Given the description of an element on the screen output the (x, y) to click on. 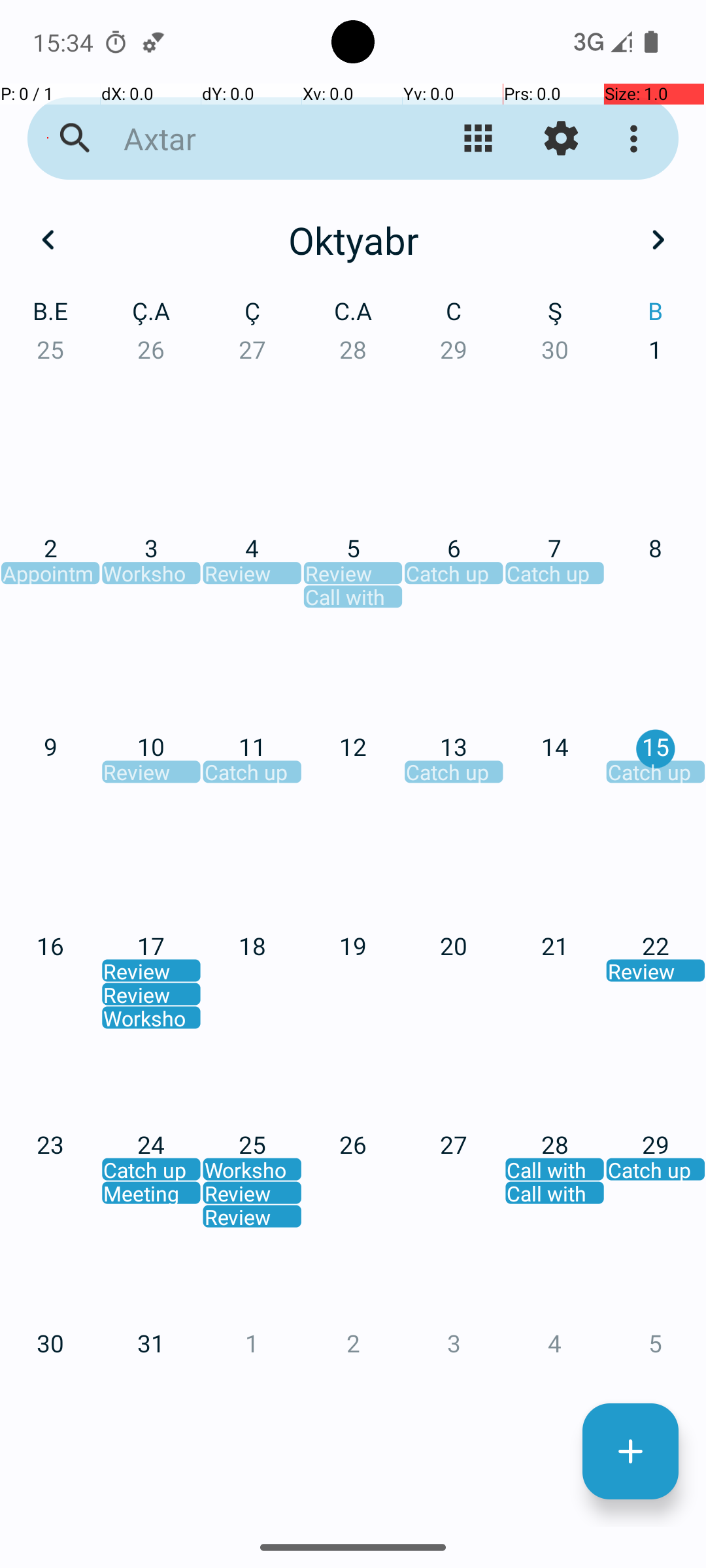
Axtar Element type: android.widget.EditText (252, 138)
Görünüşü dəyiş Element type: android.widget.Button (477, 138)
Parametrlər Element type: android.widget.Button (560, 138)
Digər seçimlər Element type: android.widget.ImageView (636, 138)
Yeni Hadisə Element type: android.widget.ImageButton (630, 1451)
Oktyabr Element type: android.widget.TextView (352, 239)
